Given the description of an element on the screen output the (x, y) to click on. 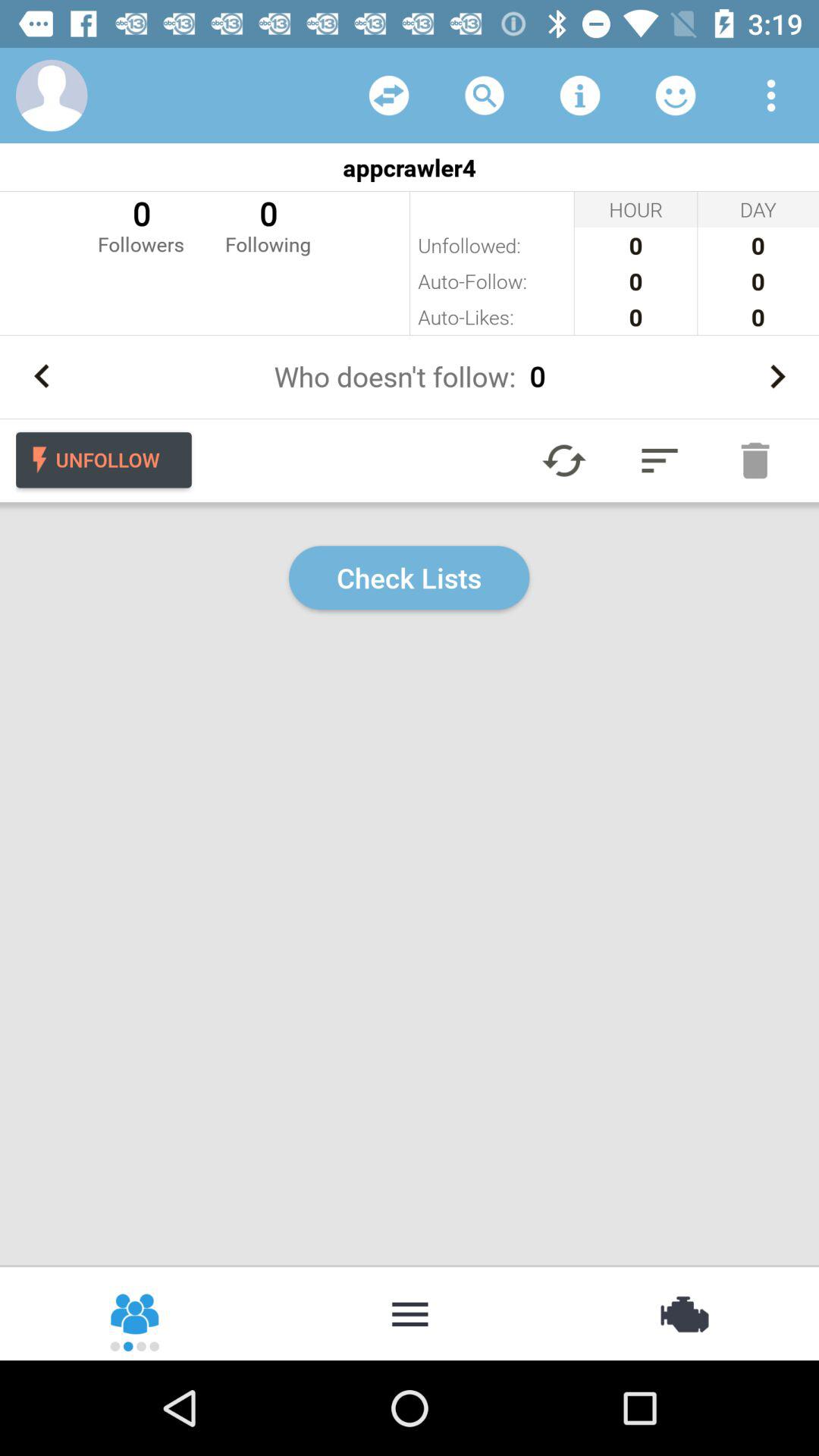
see other page (388, 95)
